Given the description of an element on the screen output the (x, y) to click on. 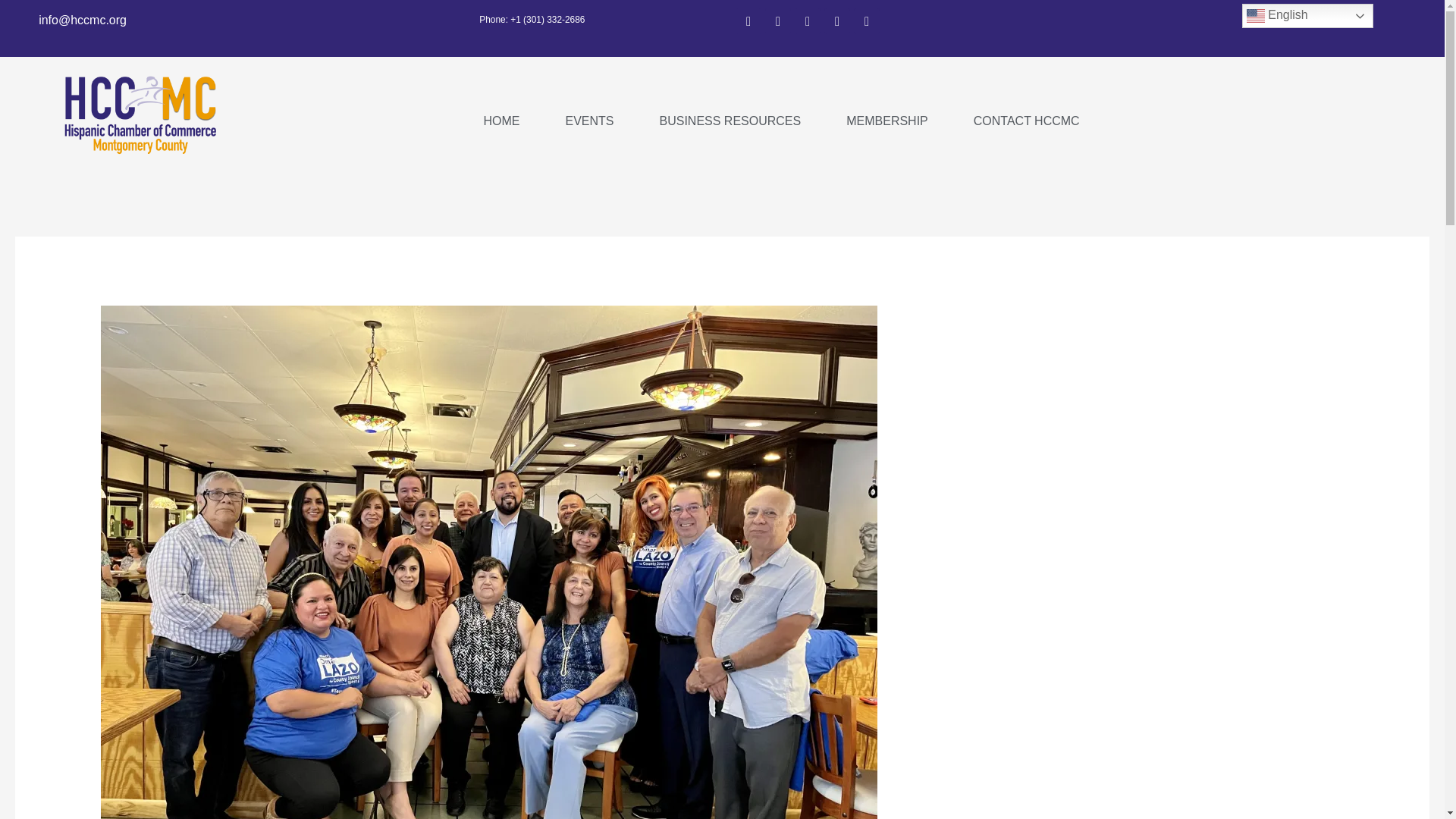
English (1307, 15)
BUSINESS RESOURCES (729, 120)
Linkedin (866, 21)
Youtube (837, 21)
Facebook (748, 21)
EVENTS (589, 120)
X-twitter (807, 21)
CONTACT HCCMC (1026, 120)
MEMBERSHIP (887, 120)
Instagram (777, 21)
HOME (501, 120)
